Given the description of an element on the screen output the (x, y) to click on. 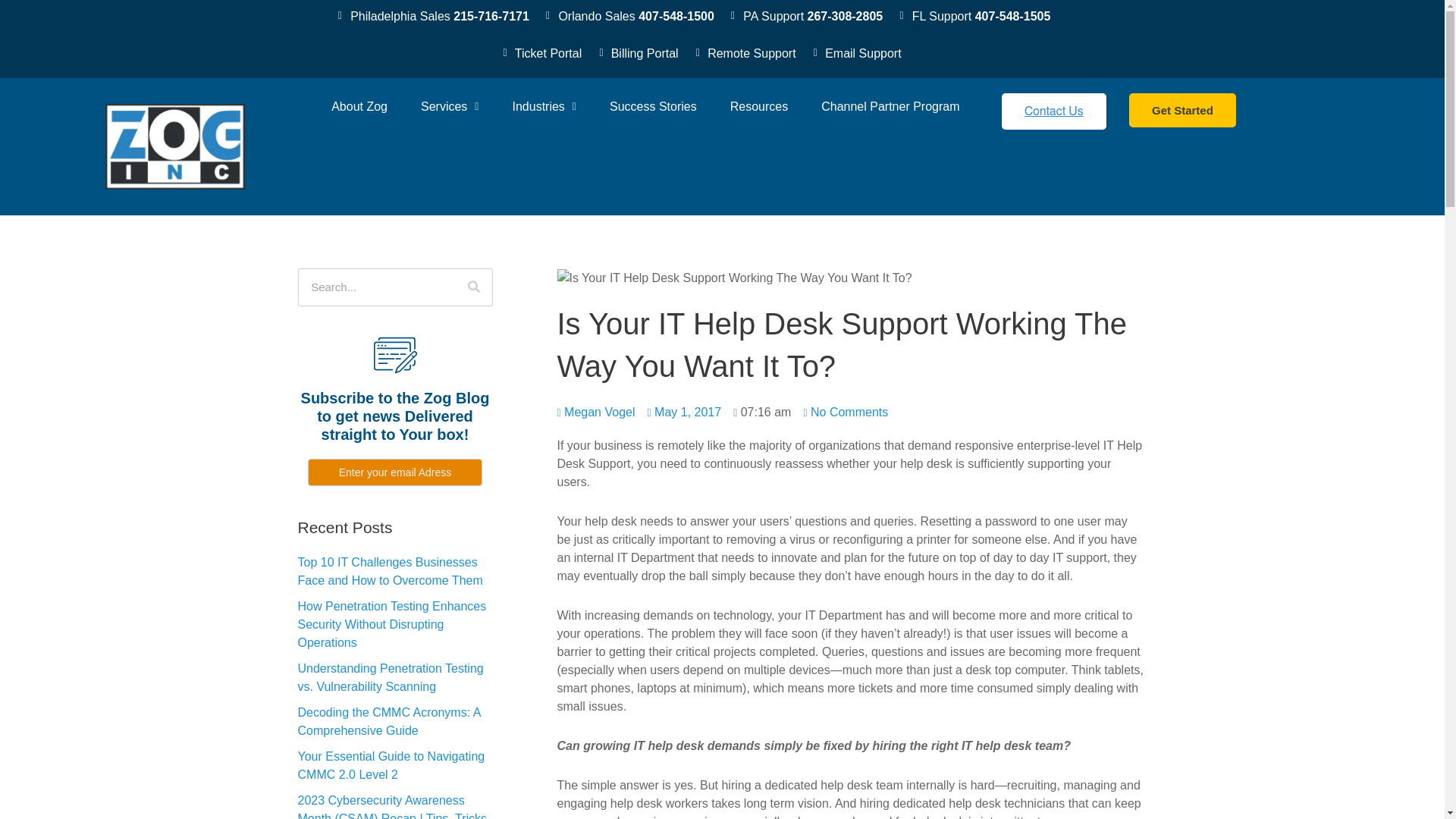
zoginc (191, 157)
FL Support 407-548-1505 (972, 16)
Philadelphia Sales 215-716-7171 (431, 16)
Success Stories (652, 106)
Resources (759, 106)
Ticket Portal (538, 54)
Is Your IT Help Desk Support Working The Way You Want It To? (733, 278)
Orlando Sales 407-548-1500 (627, 16)
PA Support 267-308-2805 (804, 16)
Services (449, 106)
